Given the description of an element on the screen output the (x, y) to click on. 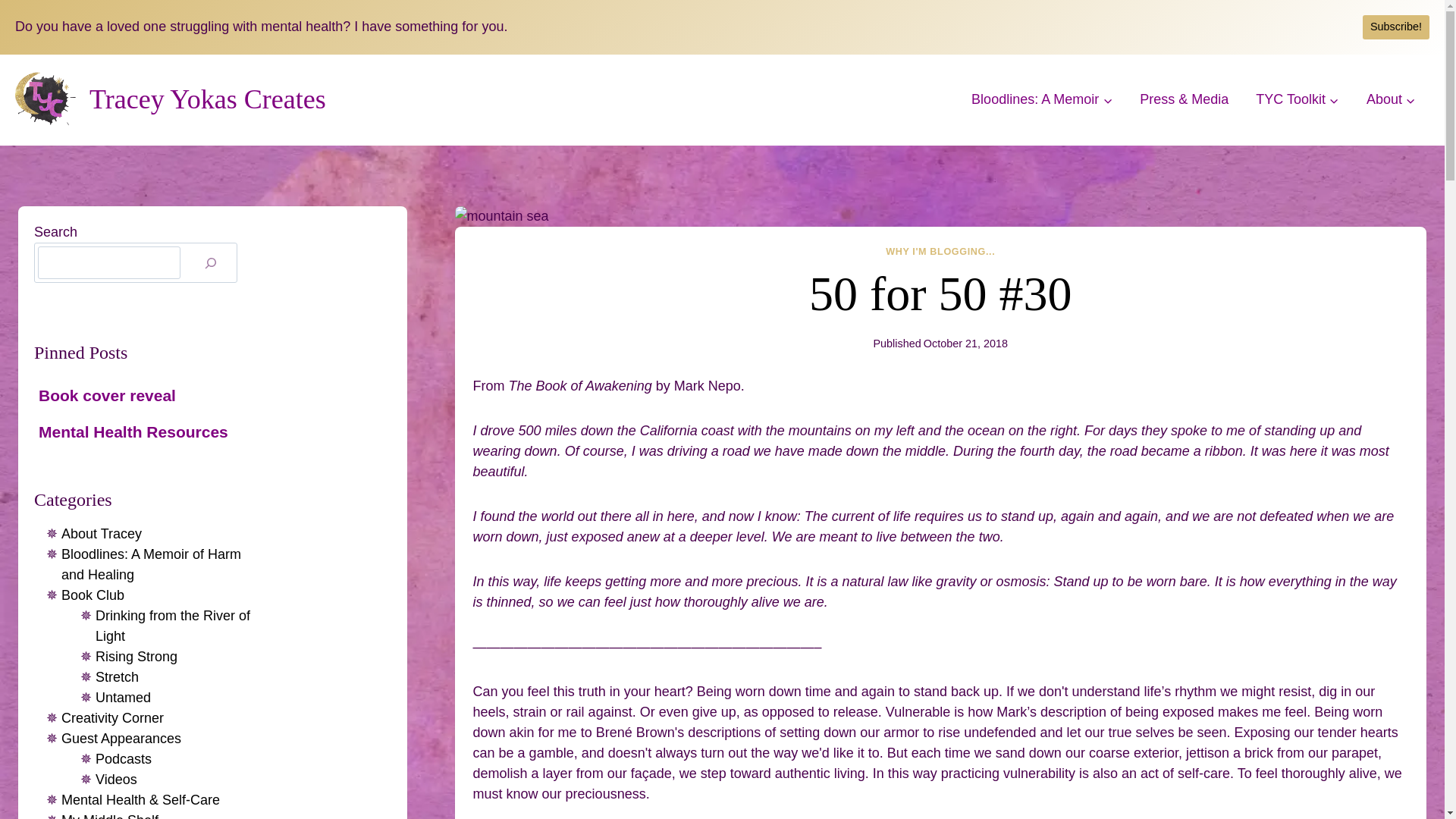
About (1390, 99)
Tracey Yokas Creates (170, 99)
TYC Toolkit (1296, 99)
WHY I'M BLOGGING... (939, 251)
Subscribe! (1395, 27)
Bloodlines: A Memoir (1041, 99)
